Given the description of an element on the screen output the (x, y) to click on. 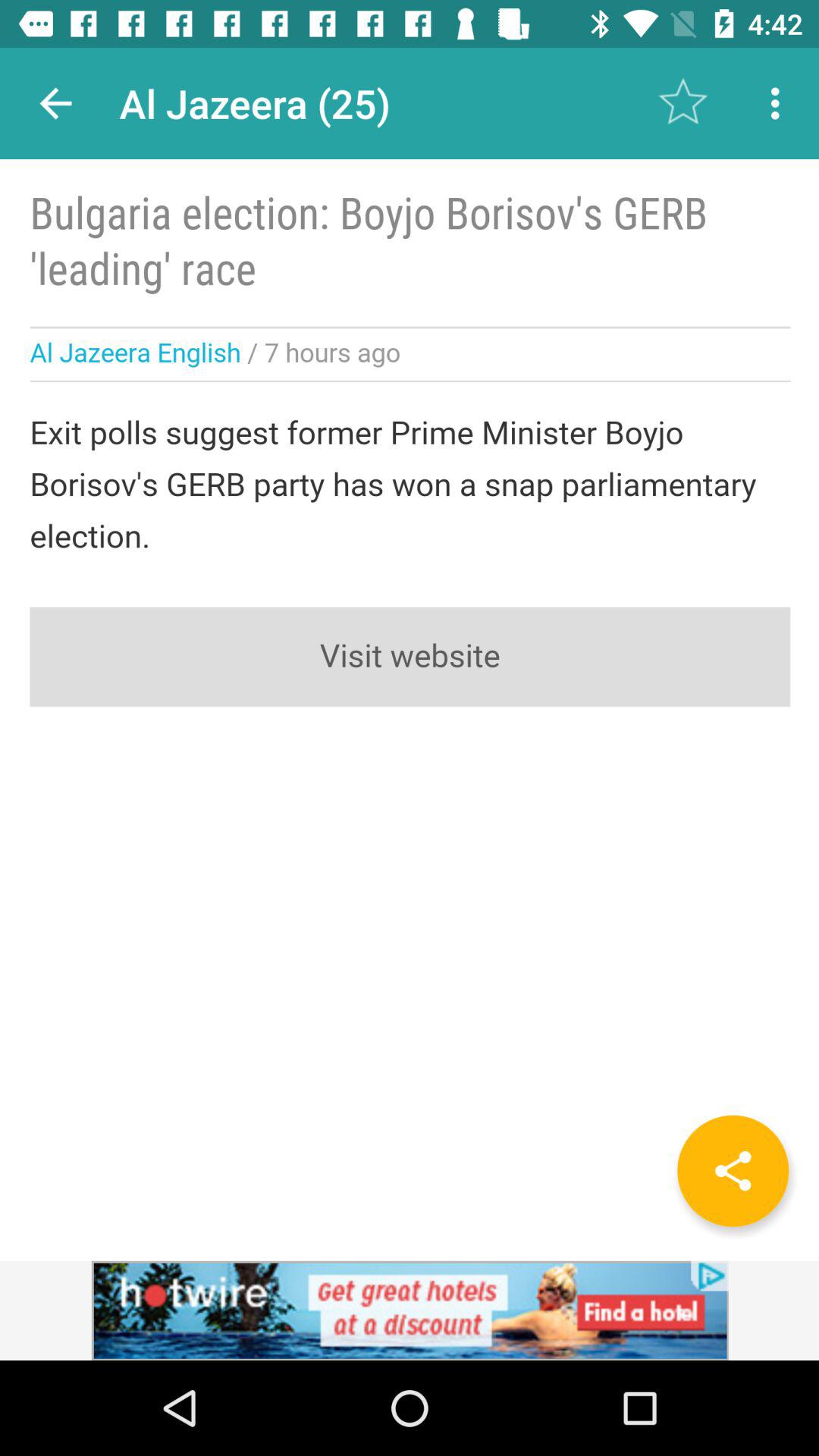
for share (733, 1171)
